Given the description of an element on the screen output the (x, y) to click on. 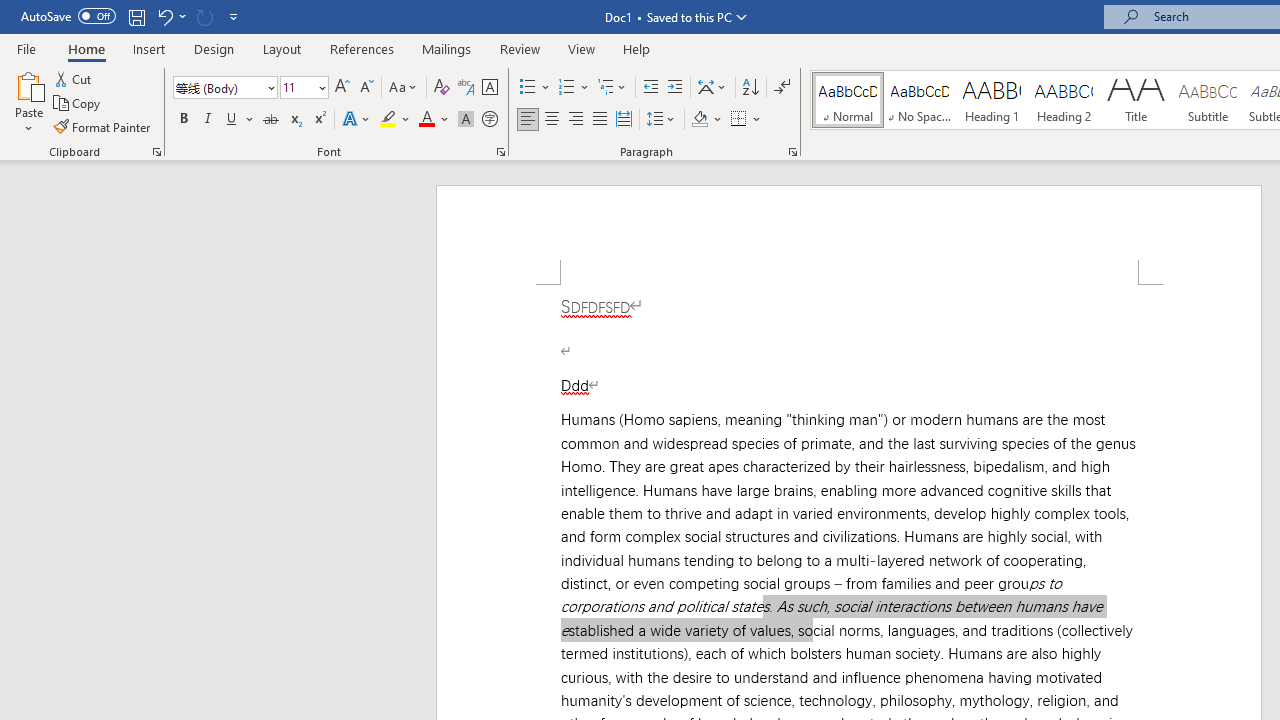
Can't Repeat (204, 15)
Undo Apply Quick Style Set (164, 15)
Shading (706, 119)
Asian Layout (712, 87)
Sort... (750, 87)
Phonetic Guide... (465, 87)
Subscript (294, 119)
Cut (73, 78)
Grow Font (342, 87)
